Given the description of an element on the screen output the (x, y) to click on. 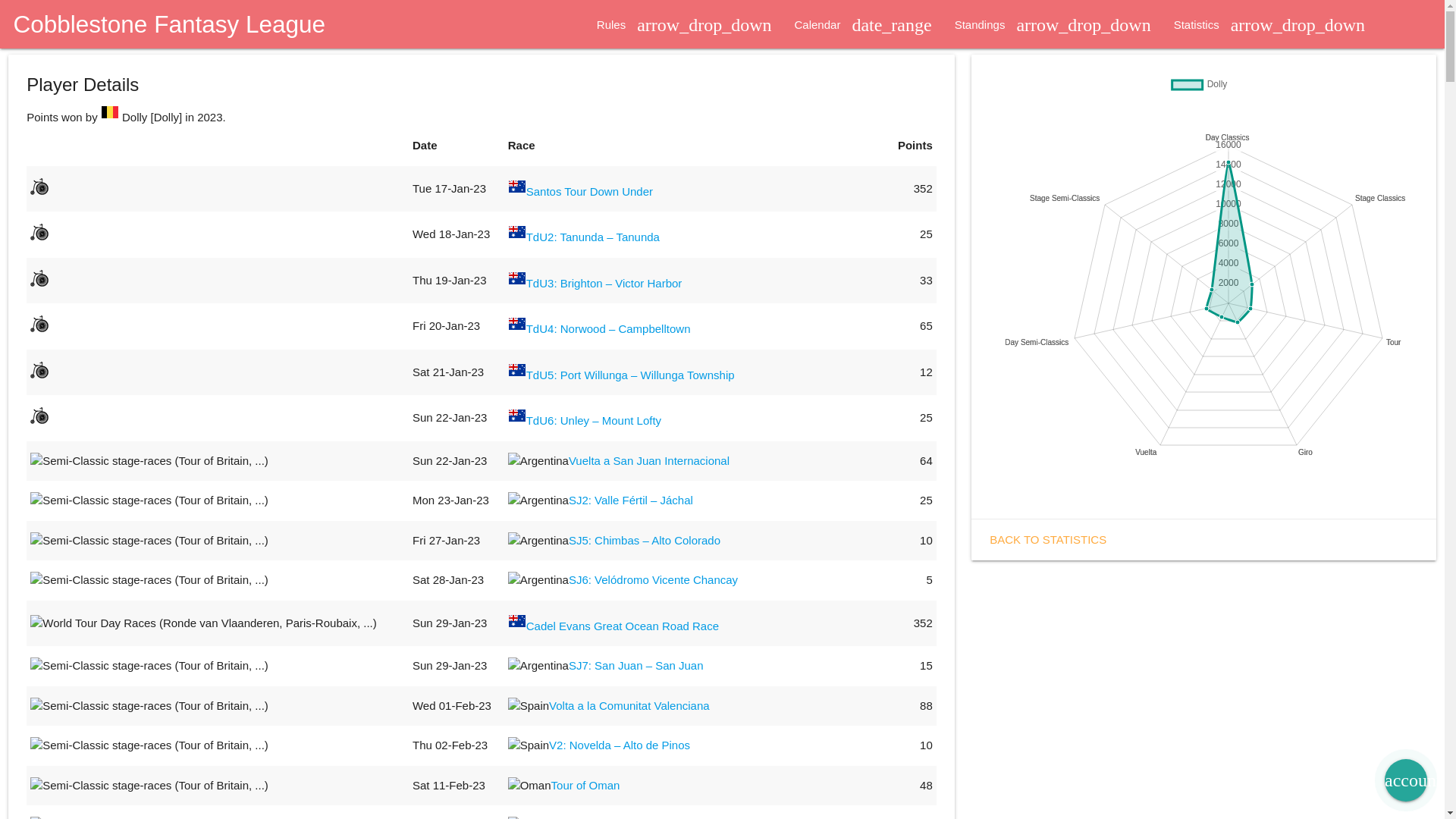
date_range
Calendar Element type: text (863, 24)
Cadel Evans Great Ocean Road Race Element type: text (622, 624)
Vuelta a San Juan Internacional Element type: text (648, 459)
Santos Tour Down Under Element type: text (589, 191)
  Cobblestone Fantasy League Element type: text (162, 24)
account_circle Element type: text (1405, 780)
Volta a la Comunitat Valenciana Element type: text (629, 705)
BACK TO STATISTICS Element type: text (1047, 538)
Tour of Oman Element type: text (585, 784)
arrow_drop_down
Standings Element type: text (1052, 24)
arrow_drop_down
       Rules Element type: text (673, 24)
arrow_drop_down
Statistics Element type: text (1269, 24)
